Given the description of an element on the screen output the (x, y) to click on. 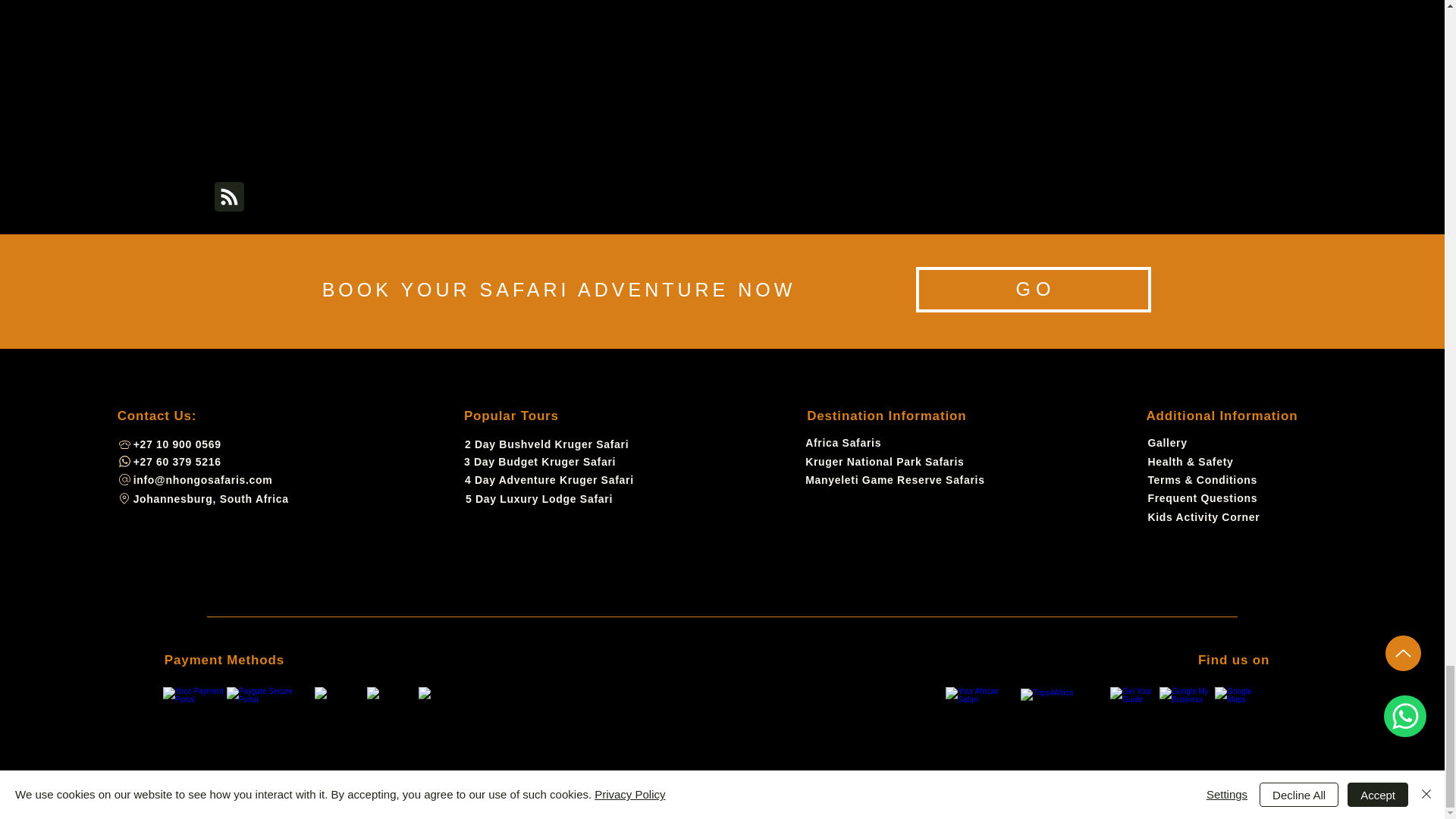
Visa Cards Accepted (195, 704)
Visa Cards Accepted (270, 704)
Visa Cards Accepted (339, 704)
Visa Cards Accepted (391, 704)
